Given the description of an element on the screen output the (x, y) to click on. 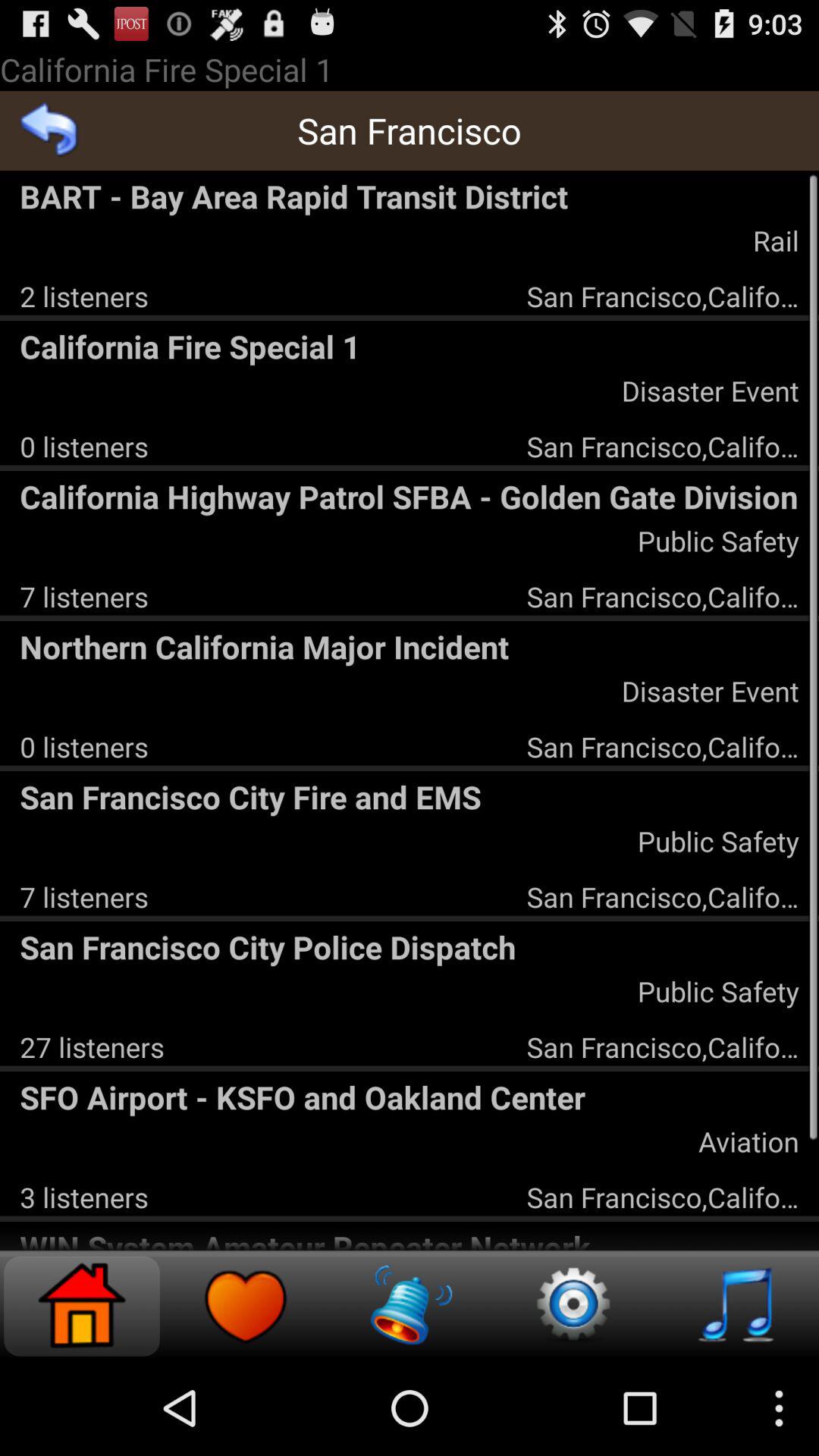
jump to the northern california major icon (409, 646)
